Given the description of an element on the screen output the (x, y) to click on. 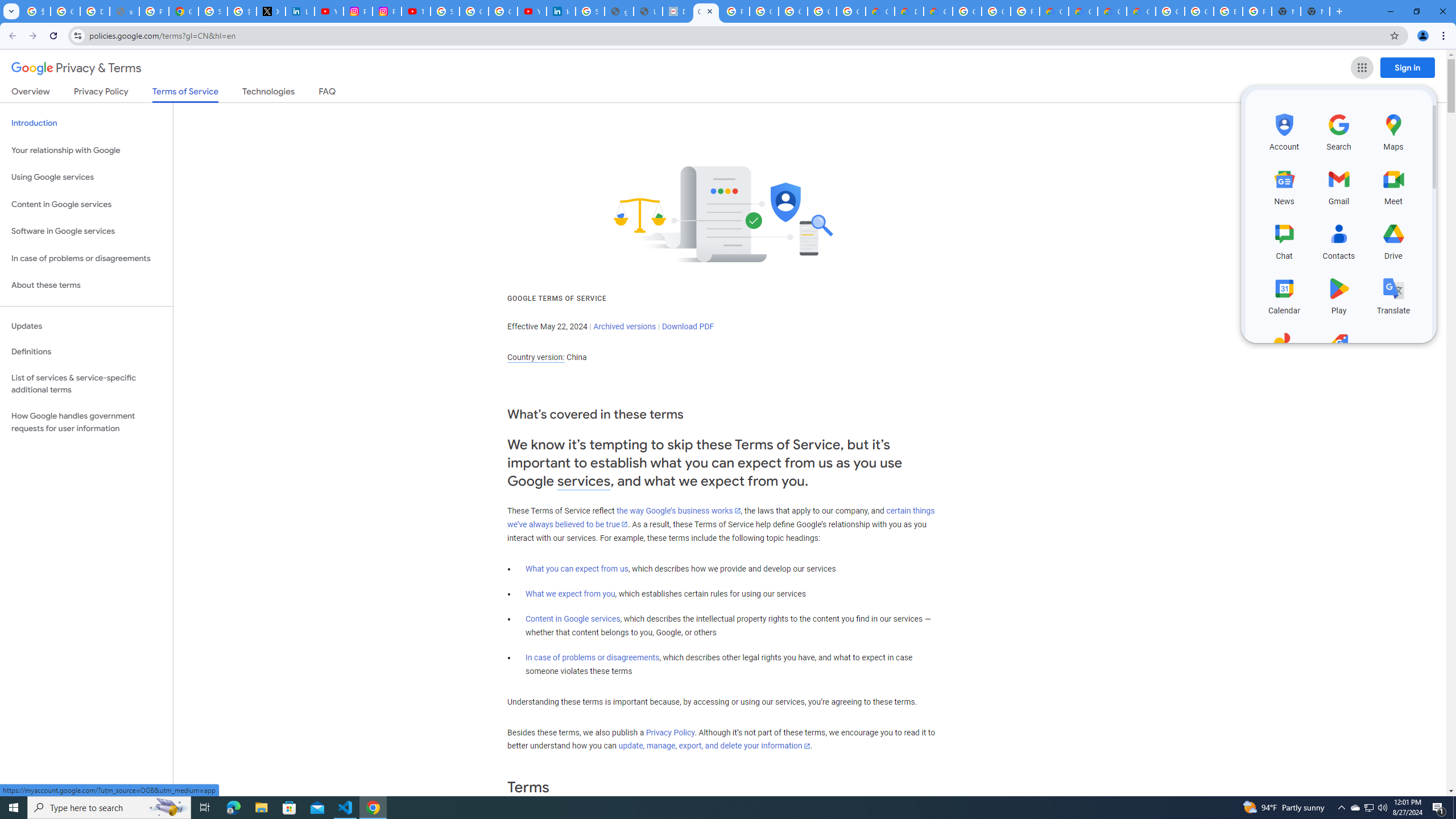
Download PDF (687, 326)
Data Privacy Framework (677, 11)
In case of problems or disagreements (592, 657)
You (1422, 35)
Customer Care | Google Cloud (1054, 11)
Introduction (86, 122)
Using Google services (86, 176)
What we expect from you (570, 593)
Back (10, 35)
Bookmark this tab (1393, 35)
